Given the description of an element on the screen output the (x, y) to click on. 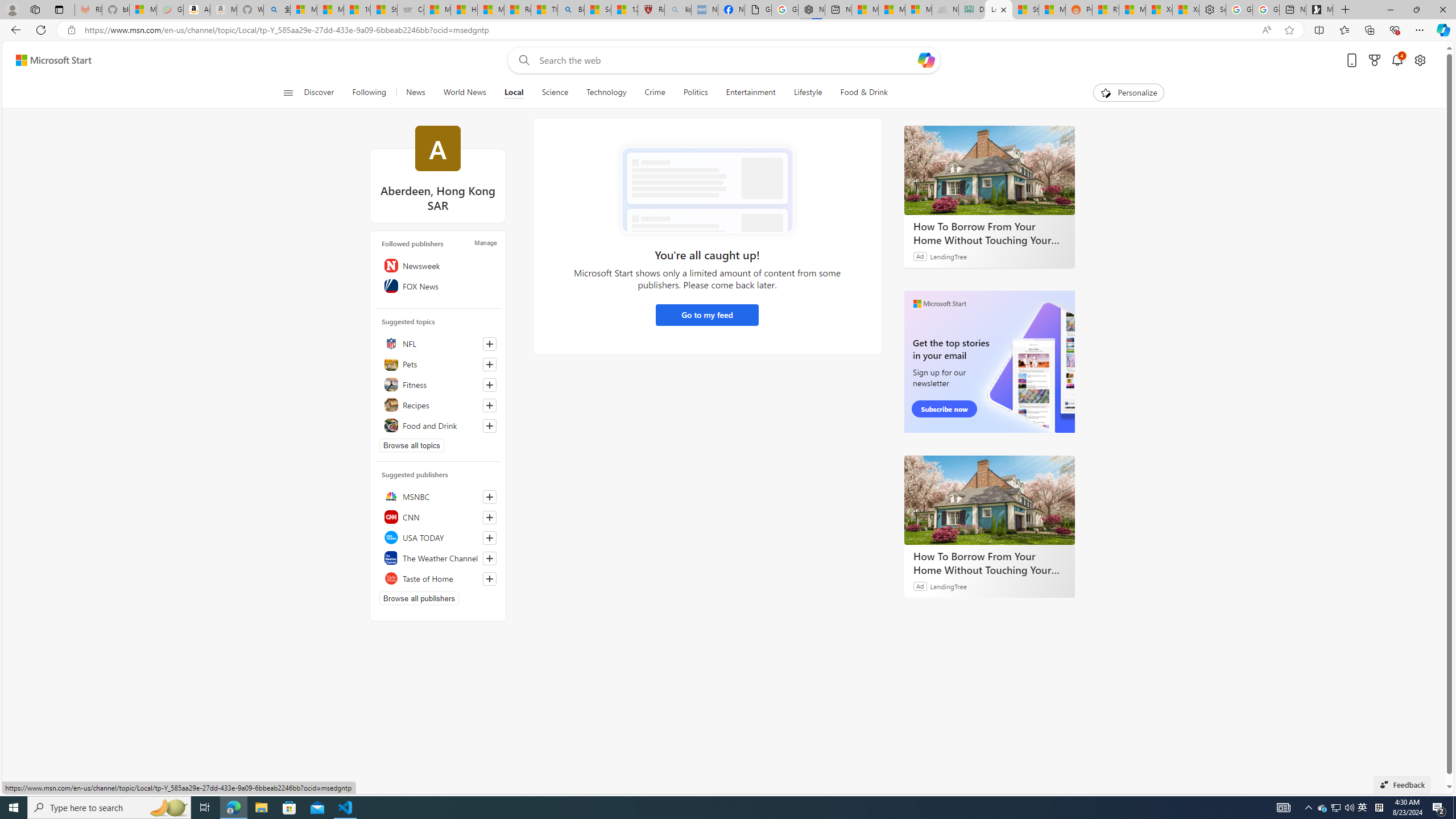
Go to my feed (706, 314)
Follow this source (489, 578)
